Given the description of an element on the screen output the (x, y) to click on. 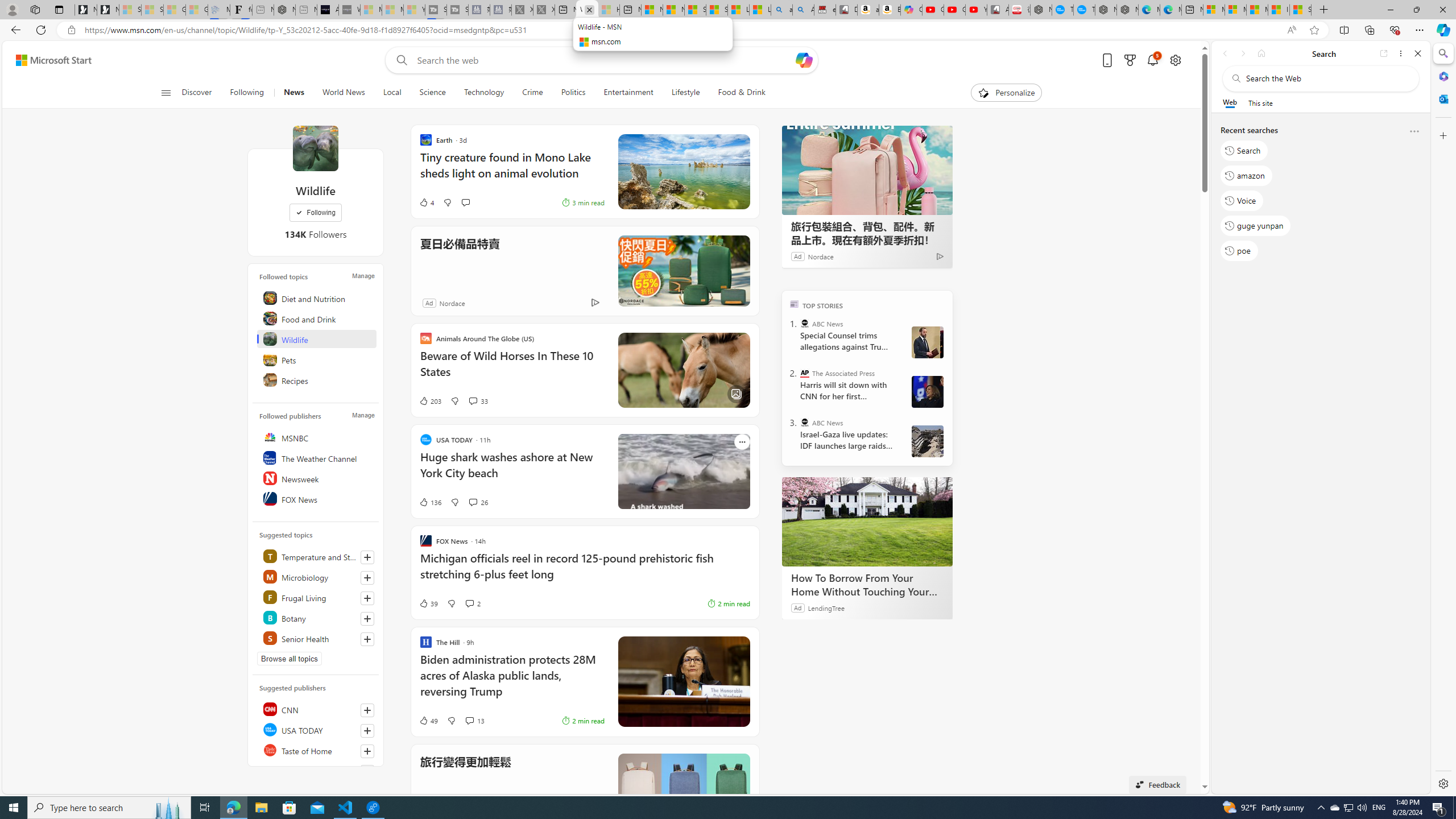
Microsoft Start Sports - Sleeping (371, 9)
The Associated Press (804, 372)
YouTube Kids - An App Created for Kids to Explore Content (975, 9)
4 Like (425, 202)
View comments 13 Comment (474, 720)
Open navigation menu (164, 92)
Gloom - YouTube (954, 9)
News (293, 92)
The Weather Channel (317, 457)
World News (343, 92)
